Given the description of an element on the screen output the (x, y) to click on. 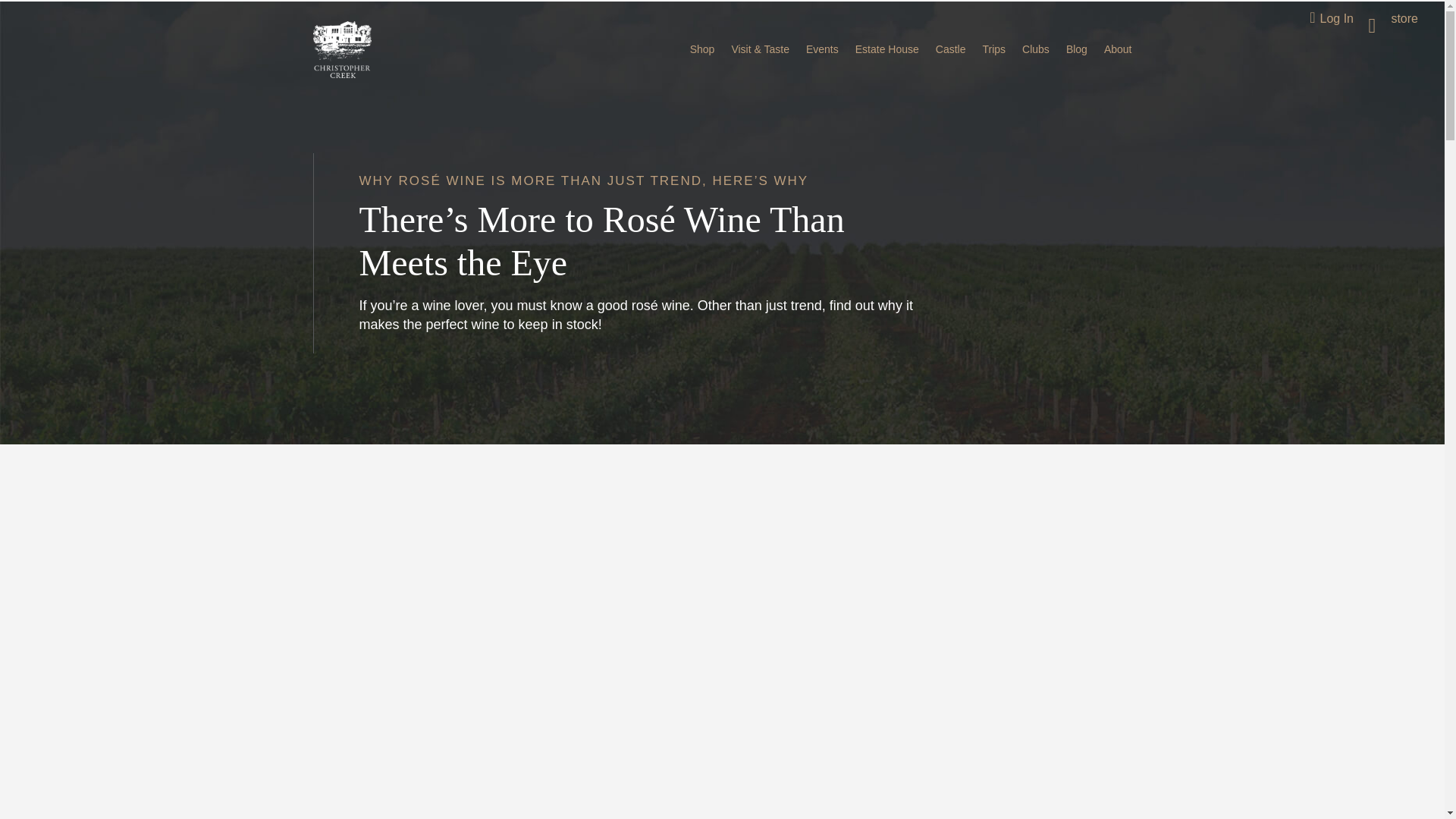
go to store (1390, 15)
sign in to your Member Portal (1331, 15)
Estate House (887, 48)
